Given the description of an element on the screen output the (x, y) to click on. 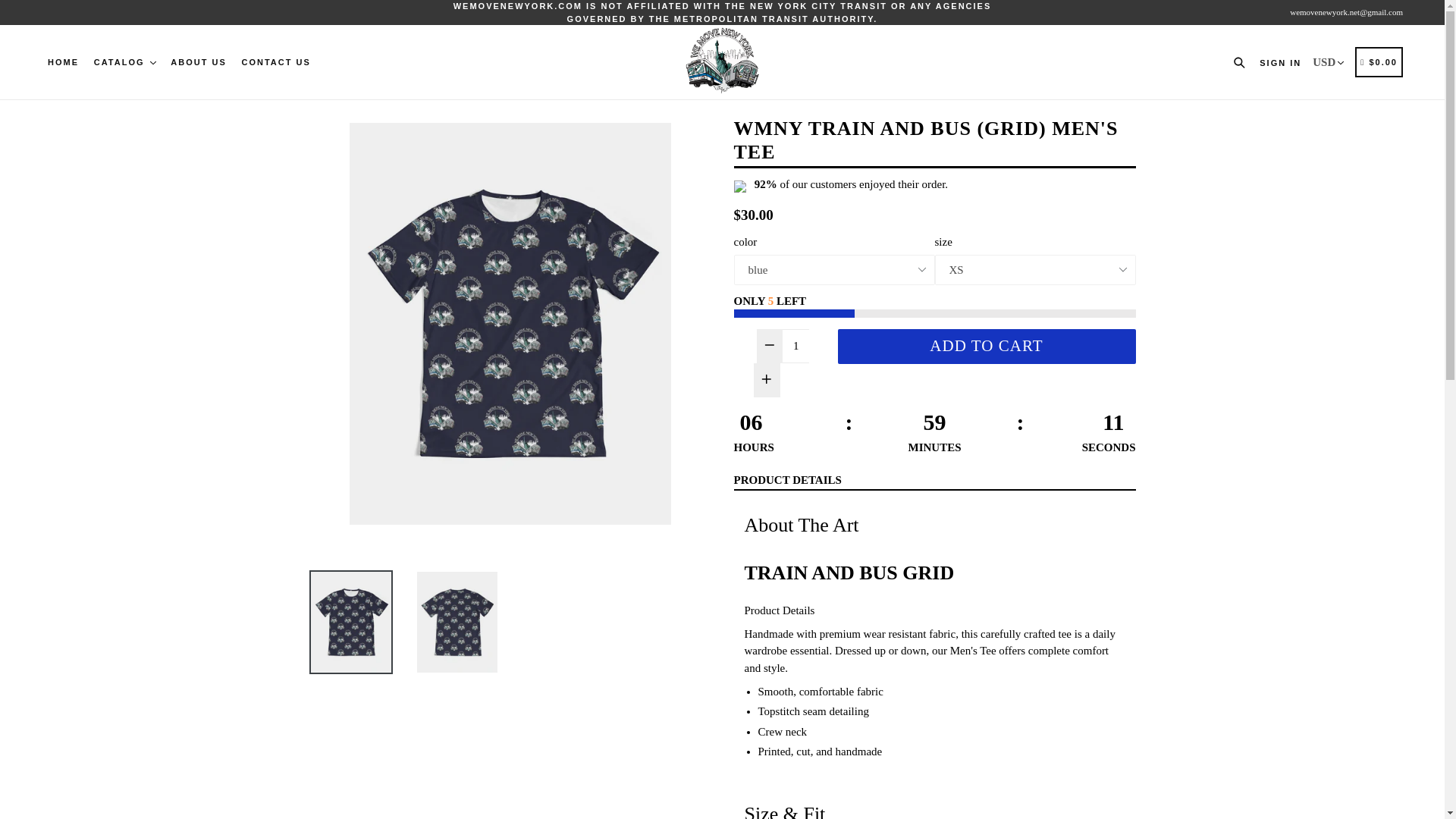
ADD TO CART (986, 346)
PRODUCT DETAILS (787, 480)
1 (796, 346)
HOME (63, 62)
ABOUT US (197, 62)
SIGN IN (1280, 62)
Search (1241, 61)
CONTACT US (276, 62)
